Given the description of an element on the screen output the (x, y) to click on. 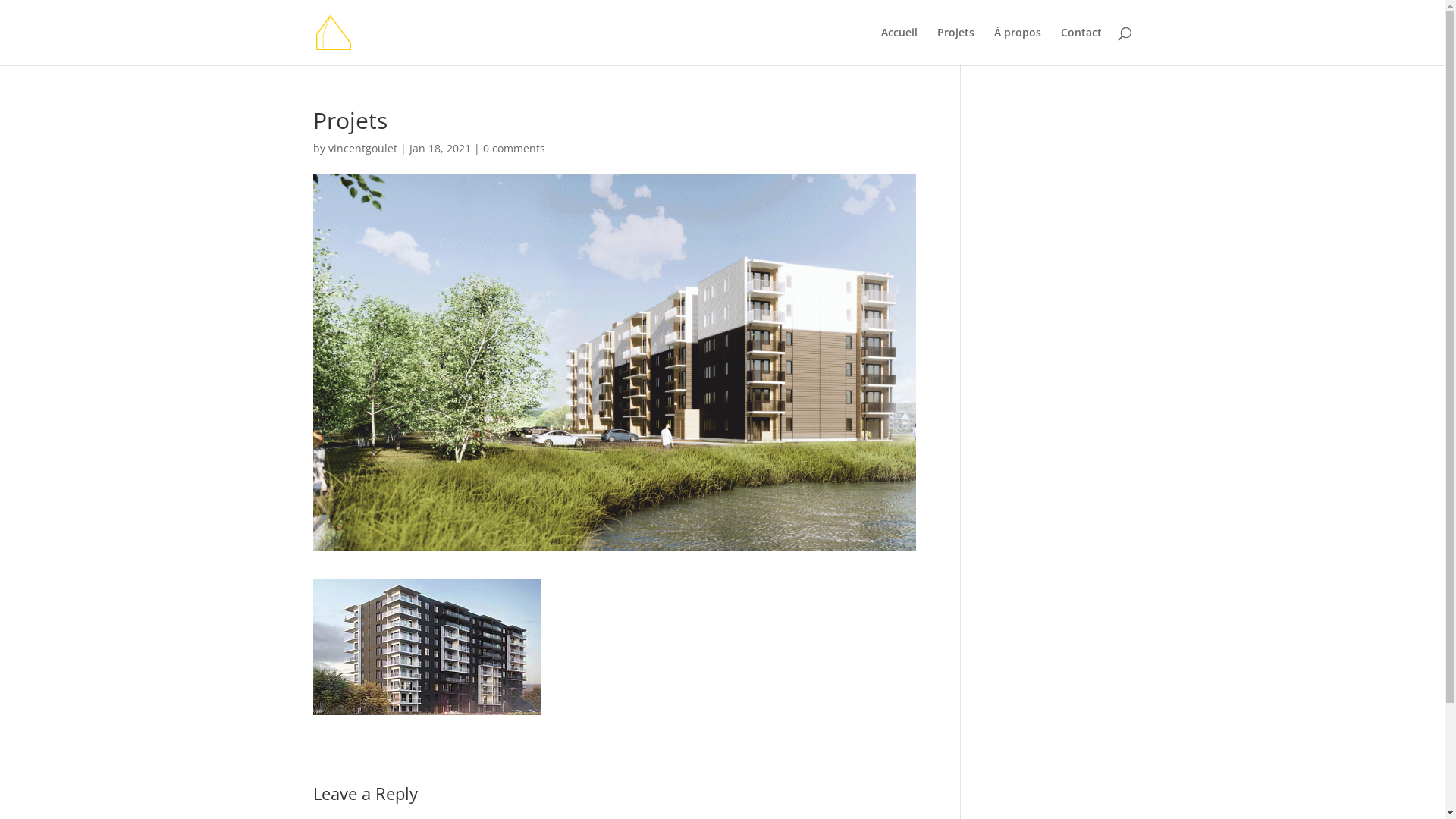
Contact Element type: text (1080, 46)
0 comments Element type: text (513, 148)
vincentgoulet Element type: text (361, 148)
Accueil Element type: text (899, 46)
Projets Element type: text (955, 46)
